Given the description of an element on the screen output the (x, y) to click on. 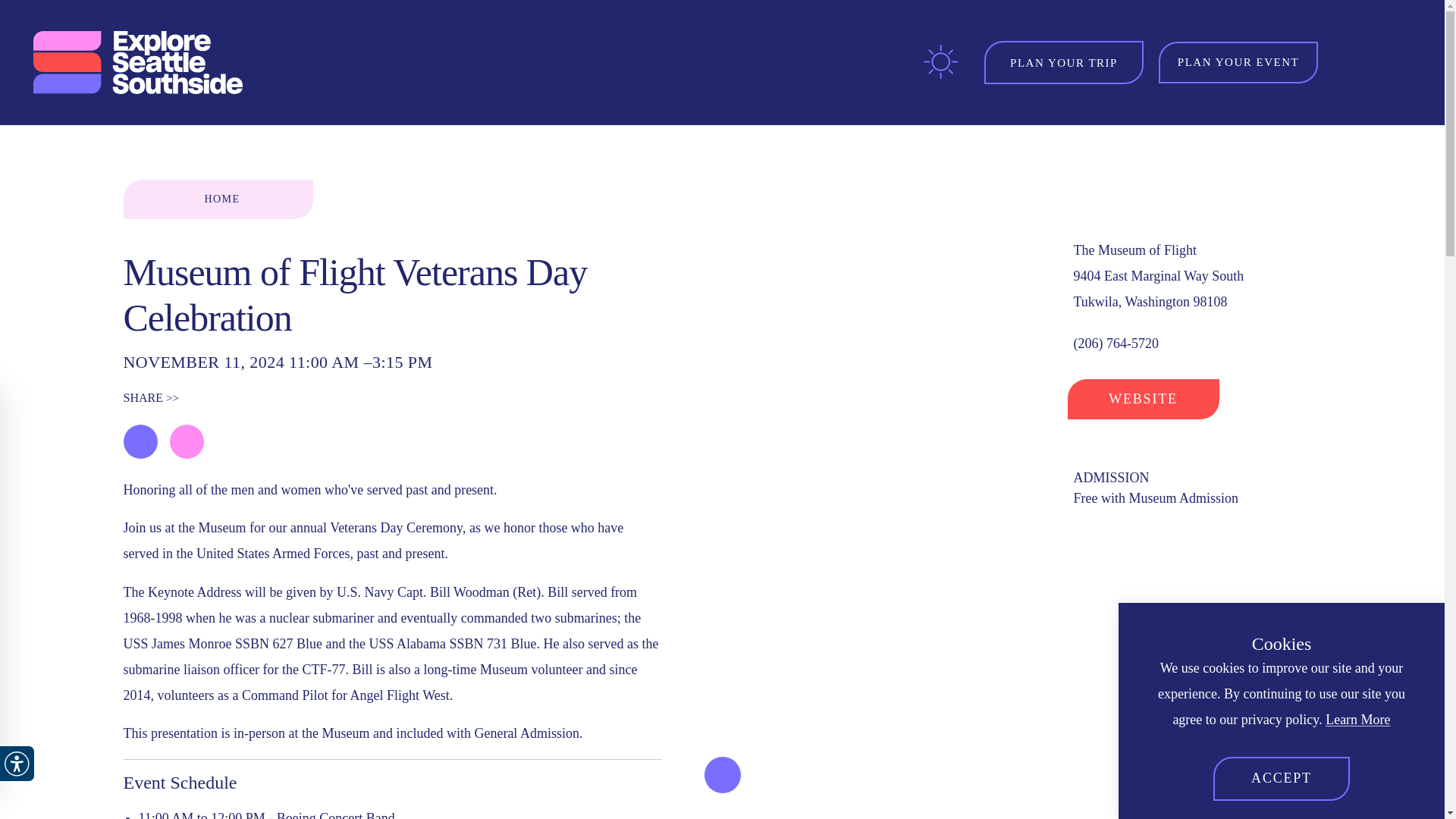
HOME (217, 199)
PLAN YOUR TRIP (1063, 62)
Skip to content (17, 15)
WEBSITE (1143, 399)
PLAN YOUR EVENT (1237, 62)
